Given the description of an element on the screen output the (x, y) to click on. 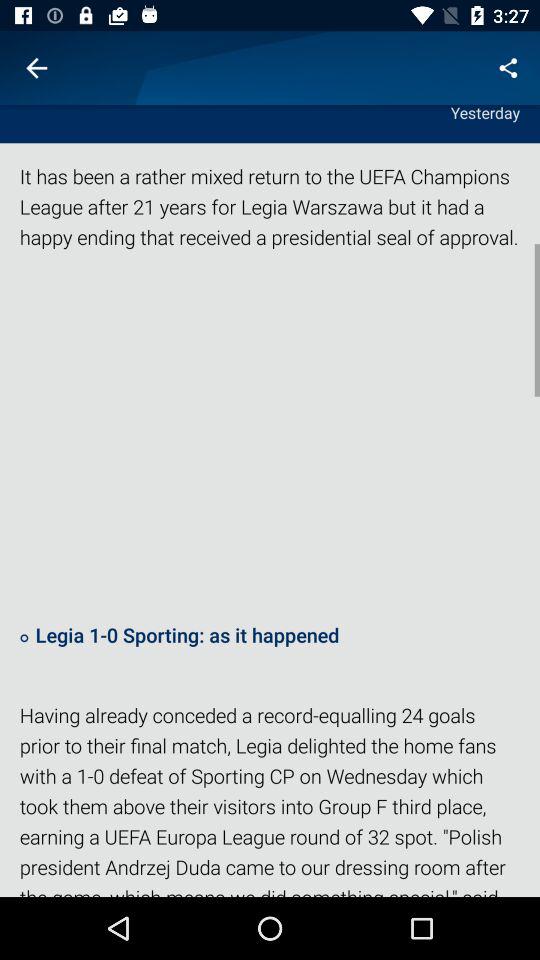
launch the icon at the center (269, 435)
